Given the description of an element on the screen output the (x, y) to click on. 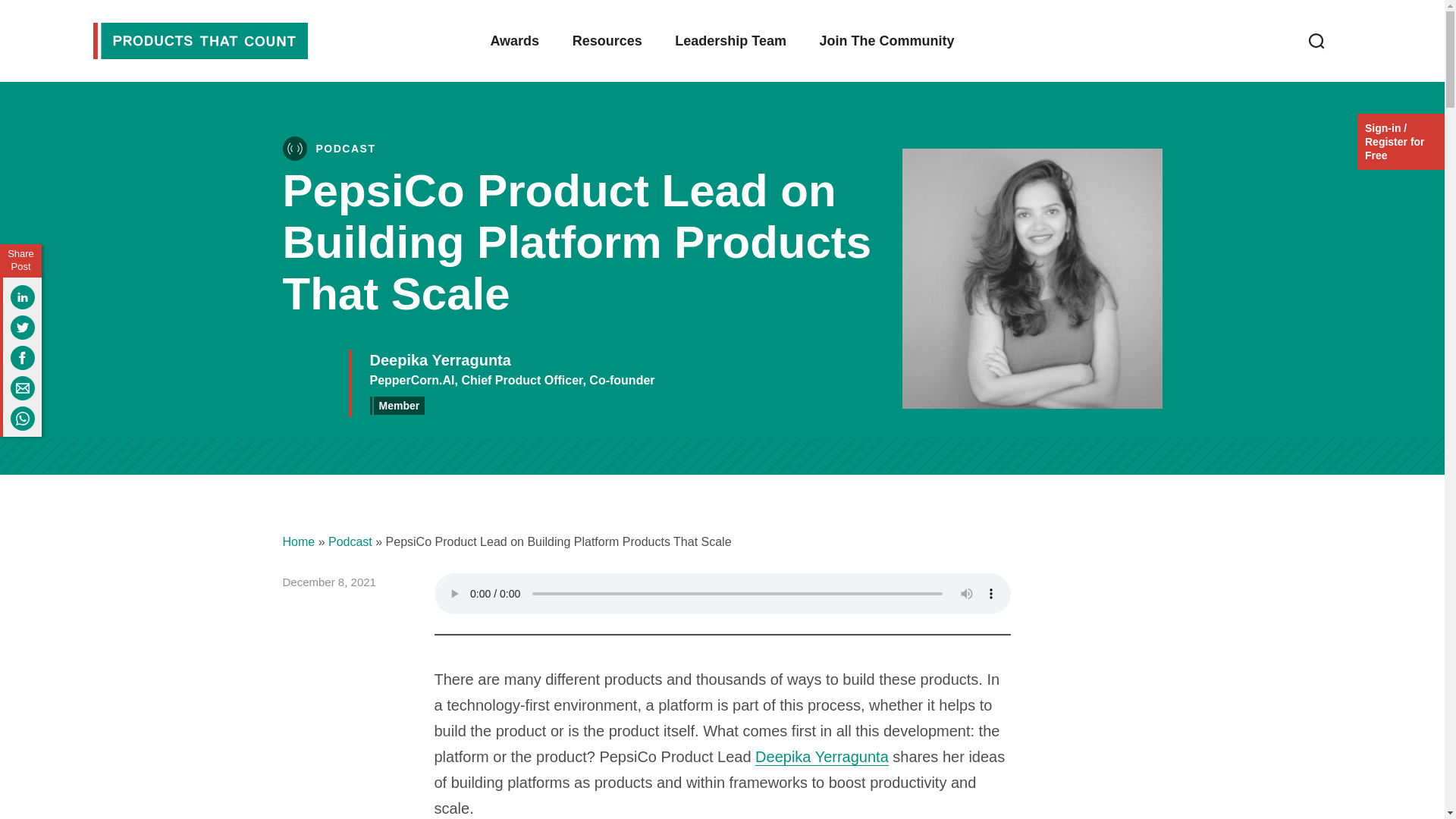
Deepika Yerragunta (821, 756)
Join The Community (887, 45)
Home (298, 541)
Podcast (350, 541)
Resources (607, 45)
Awards (513, 45)
Leadership Team (730, 45)
